Given the description of an element on the screen output the (x, y) to click on. 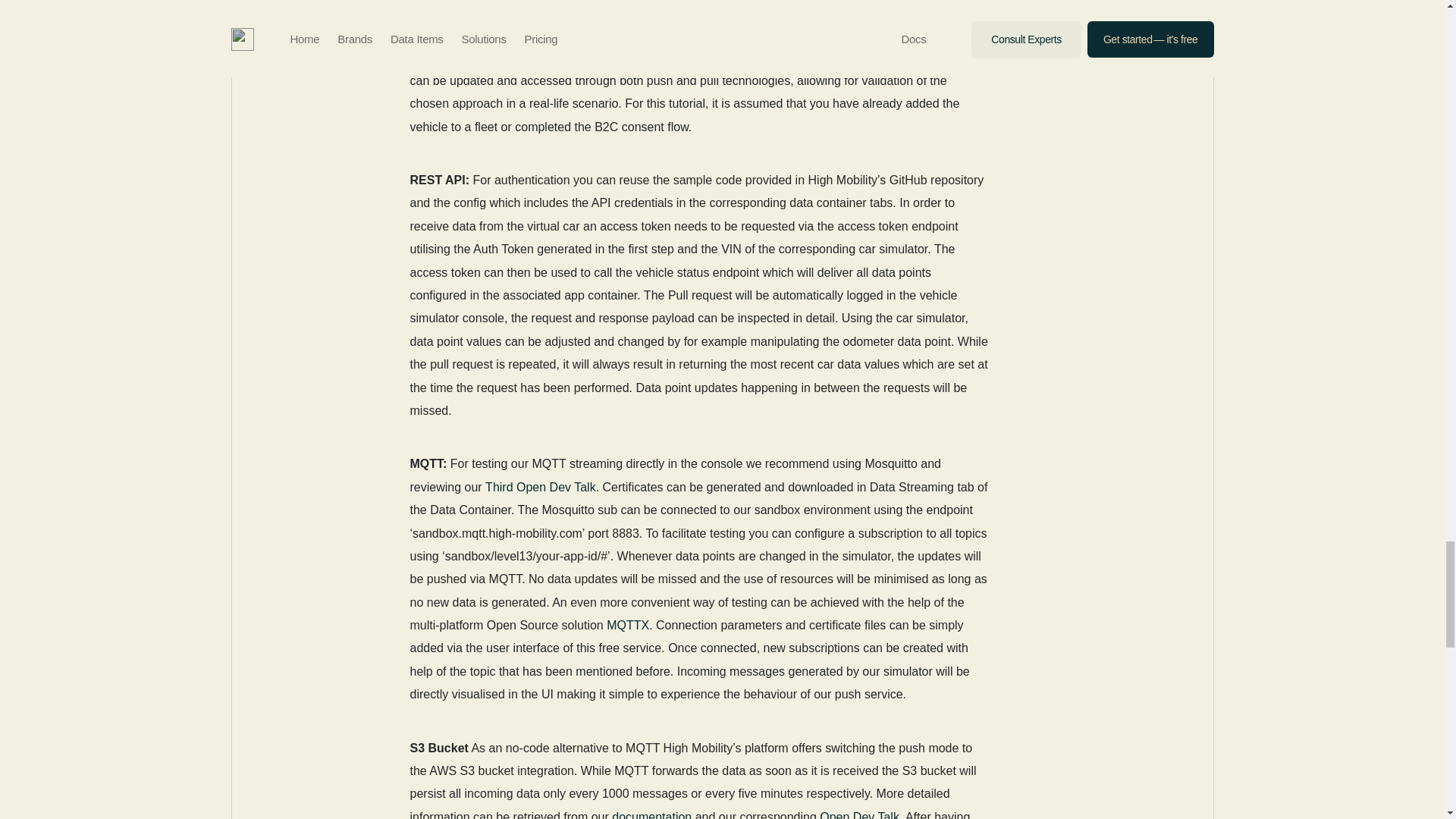
Third Open Dev Talk (539, 486)
MQTTX (628, 625)
documentation (651, 814)
The one true sandbox for Connected Car Data (670, 22)
Open Dev Talk (859, 814)
